Given the description of an element on the screen output the (x, y) to click on. 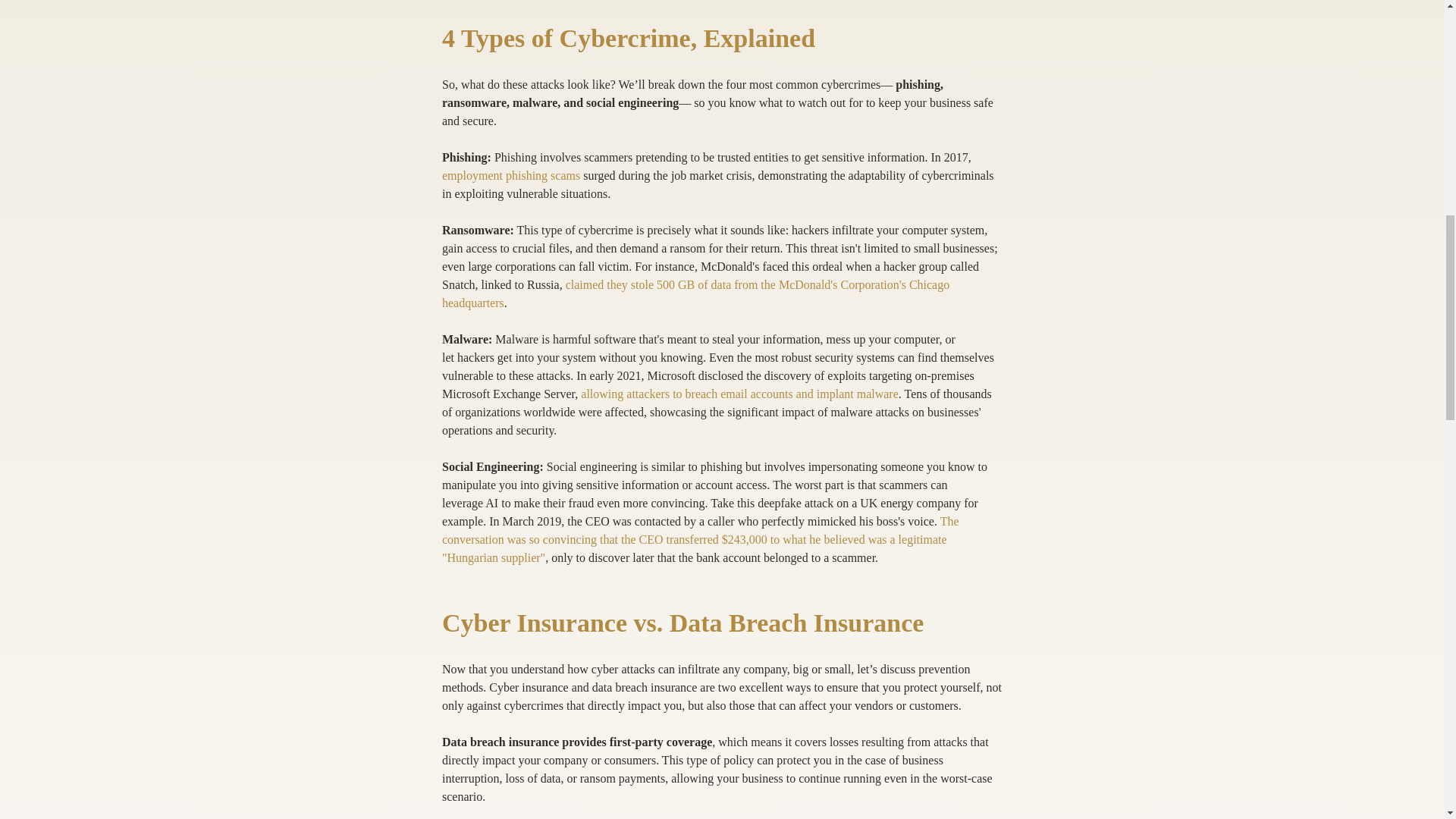
employment phishing scams (510, 174)
